Given the description of an element on the screen output the (x, y) to click on. 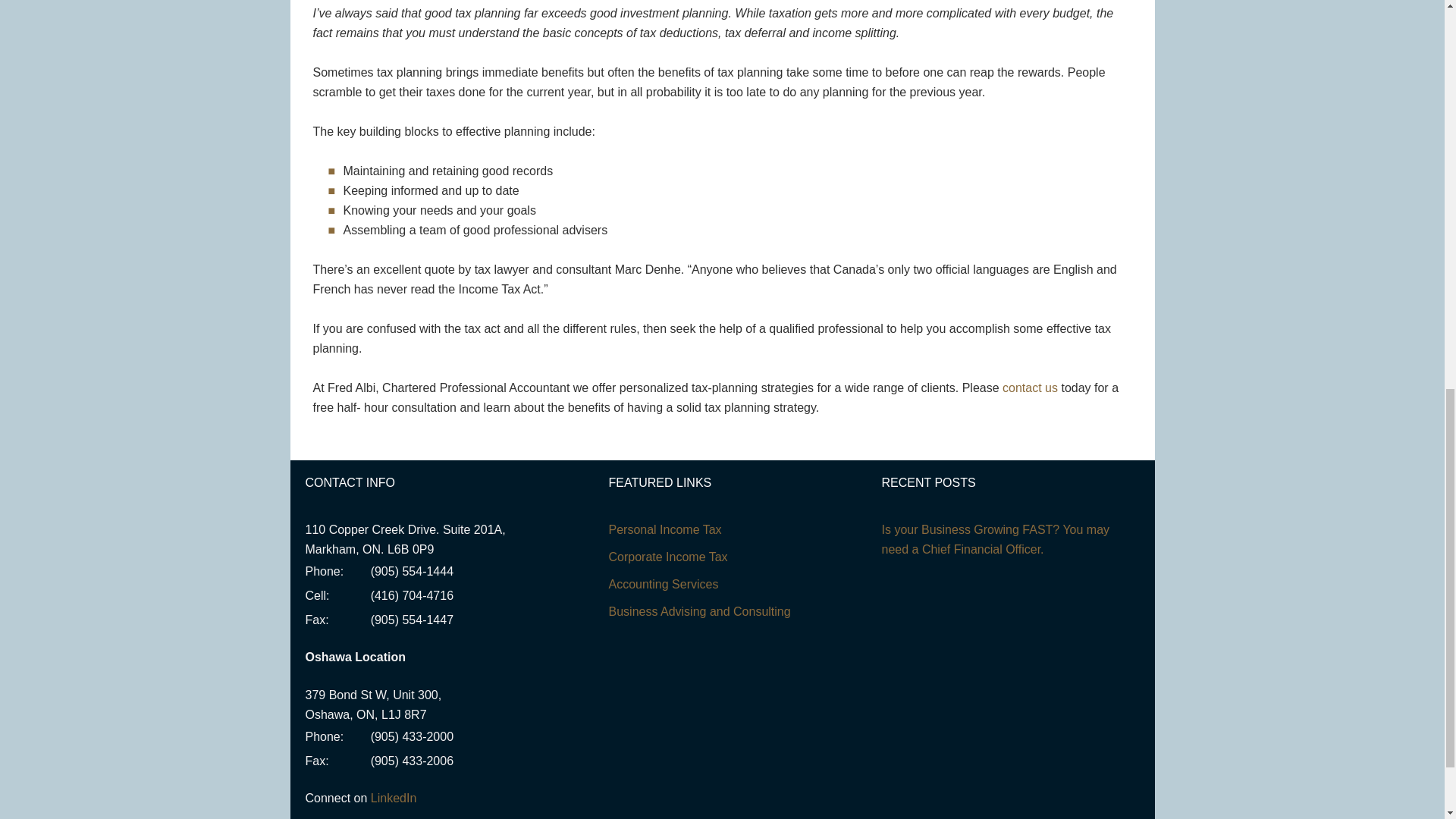
Business Advising and Consulting (699, 611)
Accounting Services (662, 584)
contact us (1030, 387)
Personal Income Tax (664, 529)
Corporate Income Tax (667, 556)
LinkedIn (393, 797)
